Given the description of an element on the screen output the (x, y) to click on. 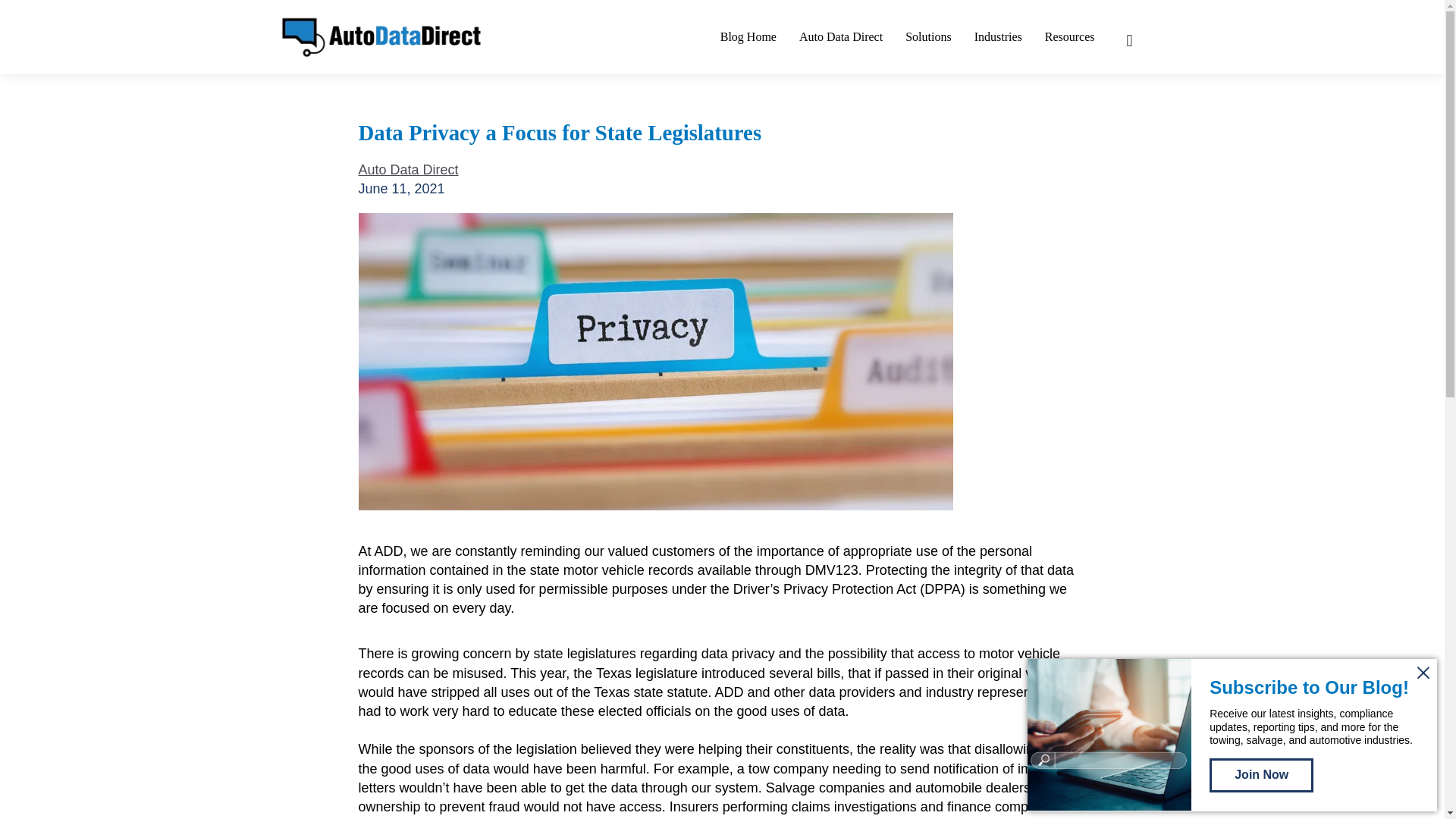
Resources (1069, 36)
Blog Home (748, 36)
Auto Data Direct (840, 36)
Industries (997, 36)
Auto Data Direct (408, 169)
Solutions (928, 36)
Popup CTA (1232, 735)
